Given the description of an element on the screen output the (x, y) to click on. 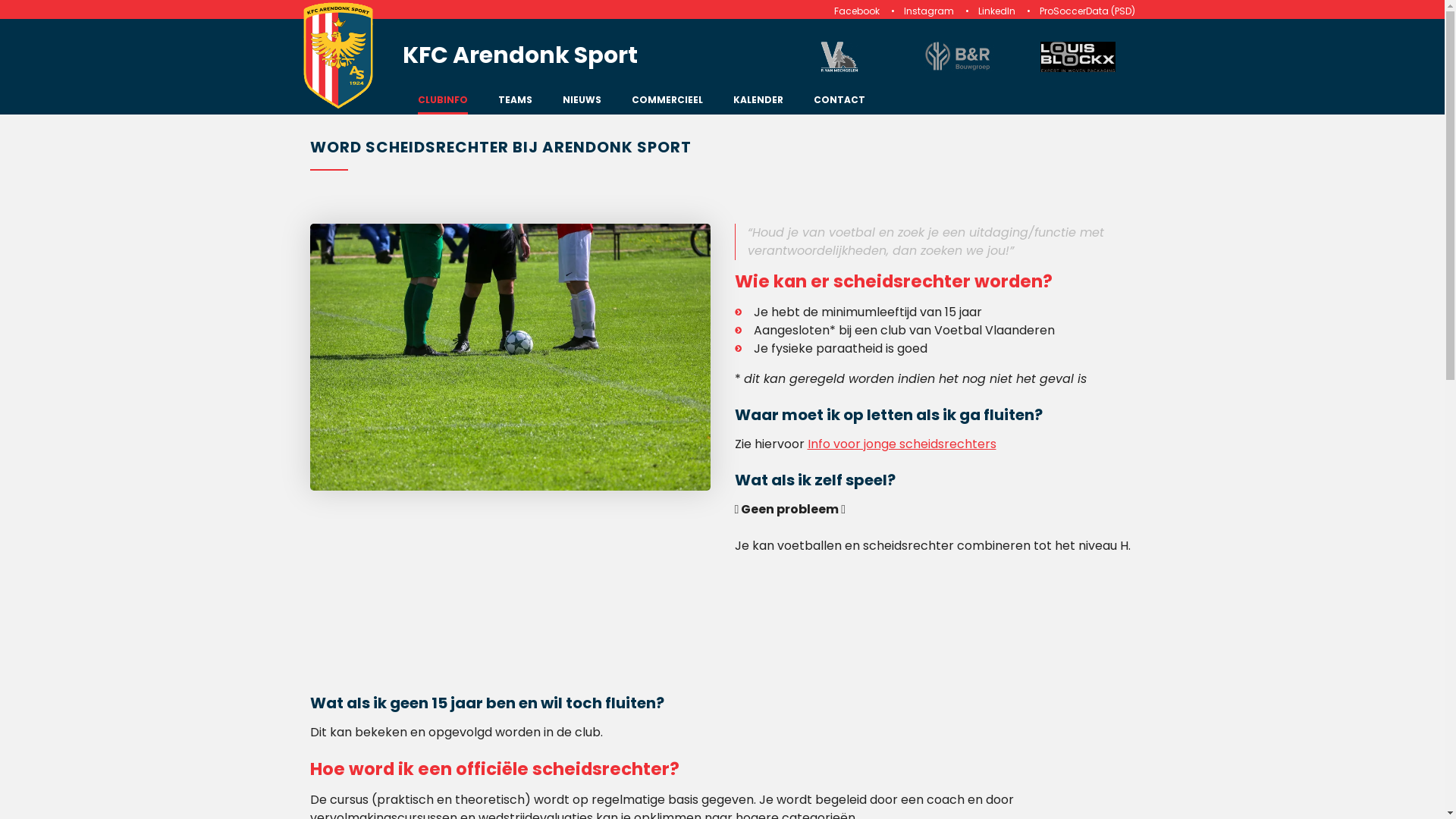
KFC Arendonk Sport Element type: text (337, 66)
CONTACT Element type: text (839, 103)
Facebook Element type: text (856, 11)
COMMERCIEEL Element type: text (666, 103)
Instagram Element type: text (928, 11)
LinkedIn Element type: text (996, 11)
Info voor jonge scheidsrechters Element type: text (900, 443)
KFC Arendonk Sport Element type: text (593, 61)
ProSoccerData (PSD) Element type: text (1086, 11)
CLUBINFO Element type: text (442, 103)
NIEUWS Element type: text (581, 103)
TEAMS Element type: text (515, 103)
KALENDER Element type: text (758, 103)
